Given the description of an element on the screen output the (x, y) to click on. 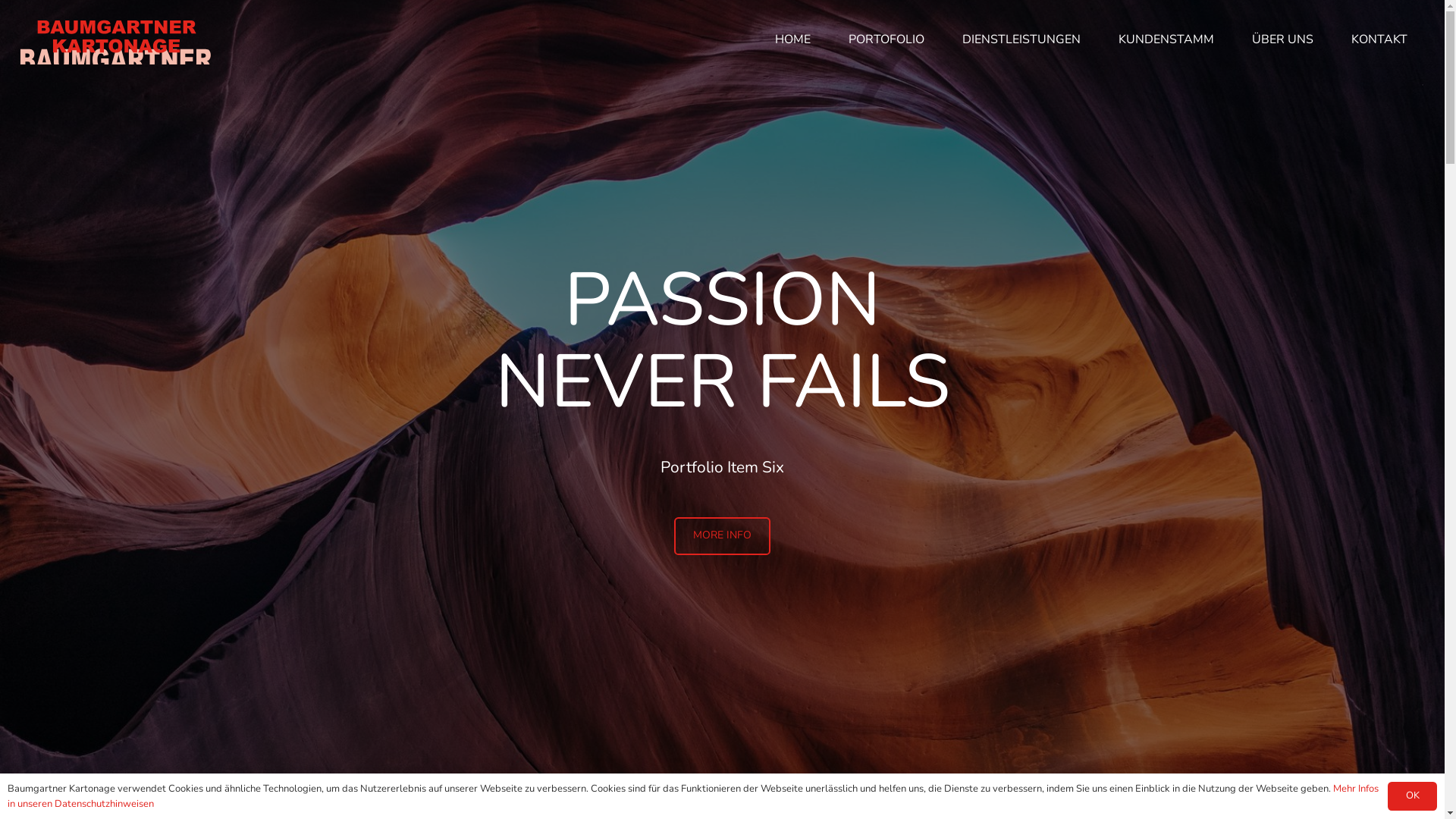
KUNDENSTAMM Element type: text (1166, 39)
KONTAKT Element type: text (1379, 39)
HOME Element type: text (792, 39)
DIENSTLEISTUNGEN Element type: text (1021, 39)
MORE INFO Element type: text (722, 536)
Mehr Infos in unseren Datenschutzhinweisen Element type: text (692, 795)
OK Element type: text (1412, 796)
PORTOFOLIO Element type: text (886, 39)
